Given the description of an element on the screen output the (x, y) to click on. 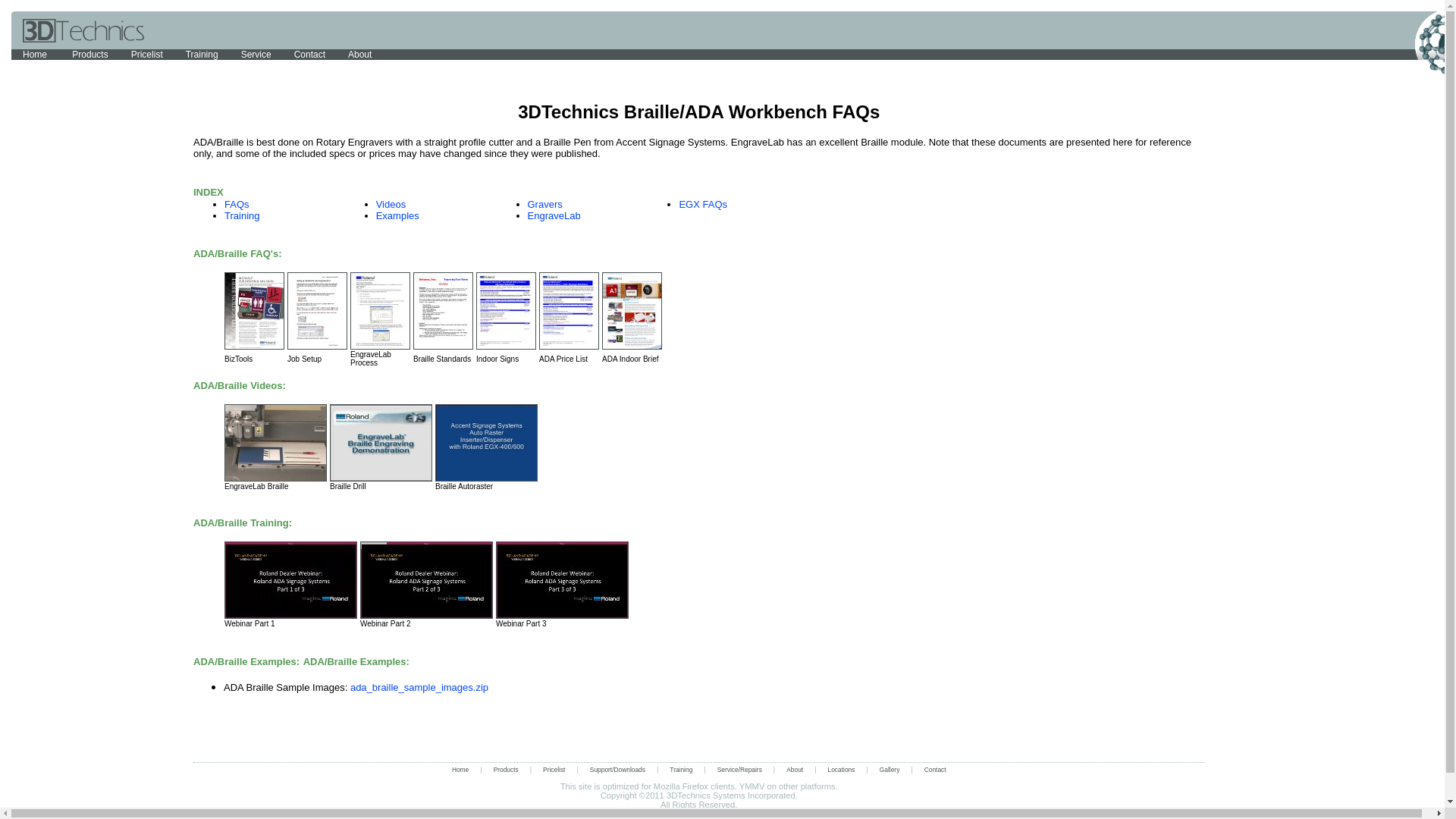
Products Element type: text (89, 54)
ADA/Braille FAQ's: Element type: text (237, 252)
ada_braille_sample_images.zip Element type: text (419, 687)
Training Element type: text (201, 54)
Home Element type: text (35, 54)
ADA/Braille Training: Element type: text (242, 521)
Training Element type: text (241, 215)
EGX FAQs Element type: text (702, 204)
ADA/Braille Videos: Element type: text (239, 384)
Contact Element type: text (935, 769)
FAQs Element type: text (236, 204)
Videos Element type: text (391, 204)
About Element type: text (794, 769)
Service Element type: text (255, 54)
Products Element type: text (506, 769)
Gallery Element type: text (889, 769)
Training Element type: text (680, 769)
Locations Element type: text (841, 769)
ADA/Braille Examples: Element type: text (246, 660)
Gravers Element type: text (544, 204)
Home Element type: text (460, 769)
About Element type: text (359, 54)
INDEX Element type: text (208, 191)
Pricelist Element type: text (146, 54)
Examples Element type: text (397, 215)
Pricelist Element type: text (553, 769)
EngraveLab Element type: text (553, 215)
Contact Element type: text (309, 54)
Service/Repairs Element type: text (739, 769)
ADA/Braille Examples: Element type: text (356, 660)
Support/Downloads Element type: text (617, 769)
